Given the description of an element on the screen output the (x, y) to click on. 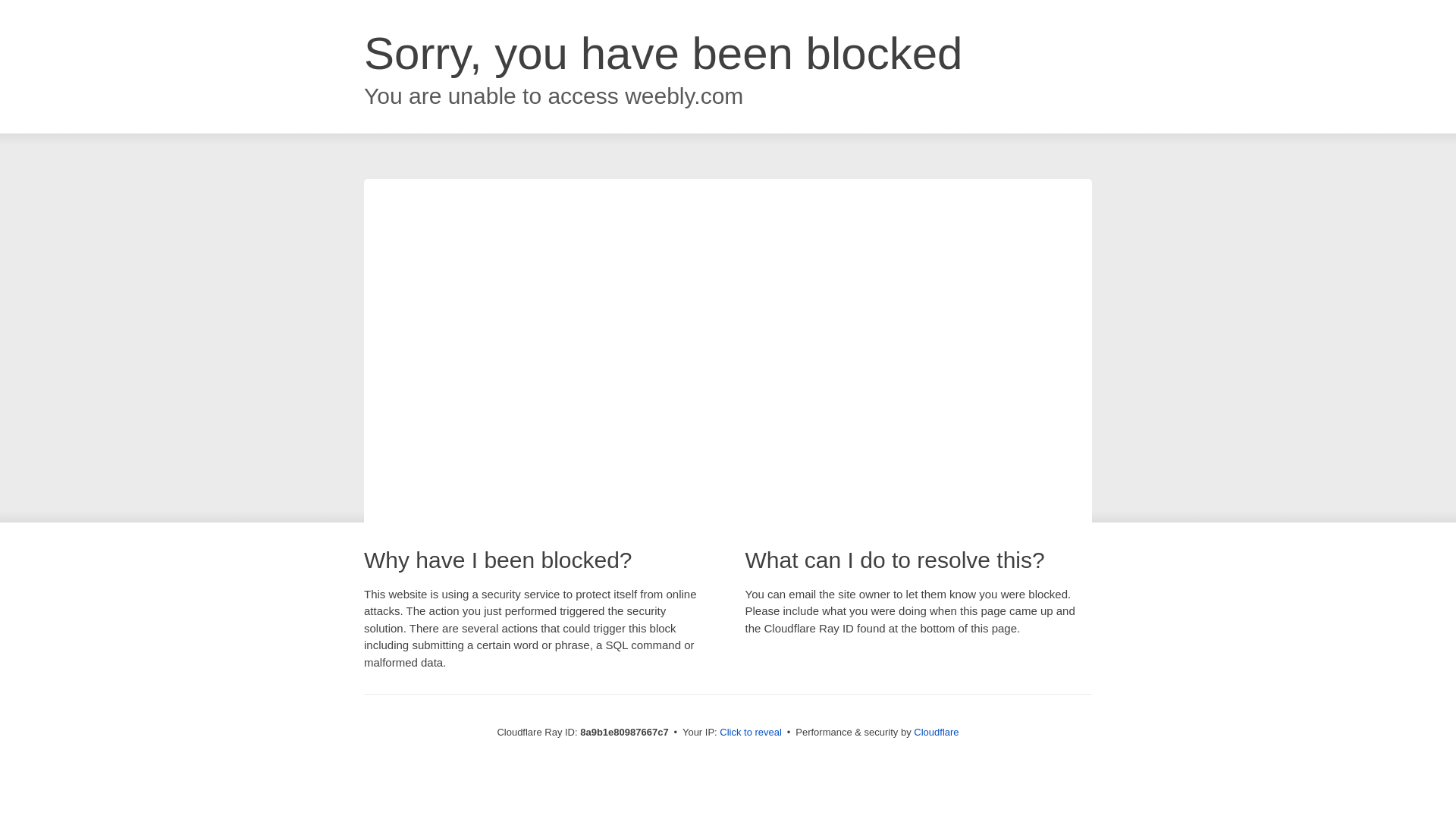
Click to reveal (750, 732)
Cloudflare (936, 731)
